Given the description of an element on the screen output the (x, y) to click on. 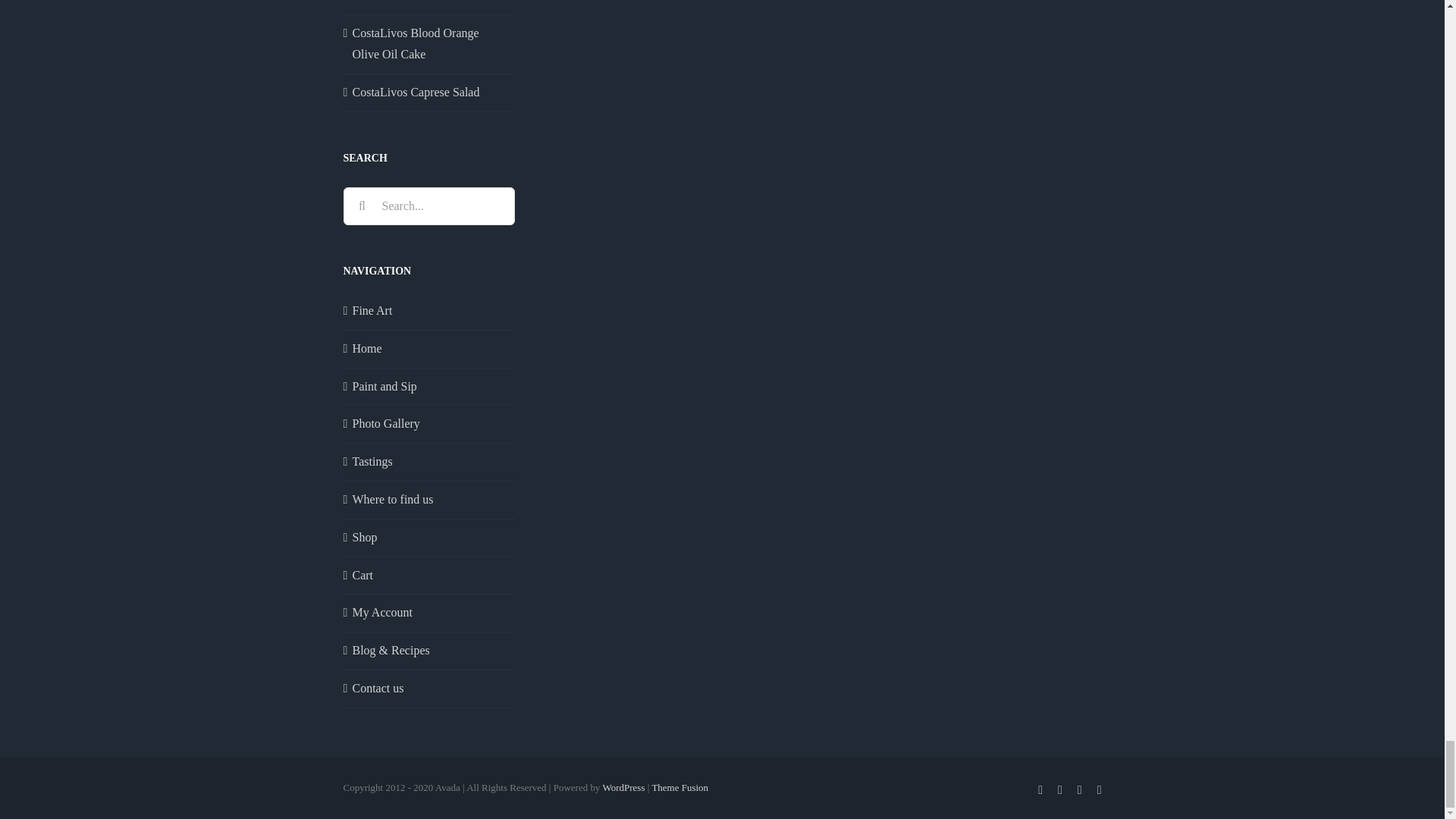
pinterest (1099, 789)
instagram (1079, 789)
twitter (1060, 789)
facebook (1040, 789)
